Given the description of an element on the screen output the (x, y) to click on. 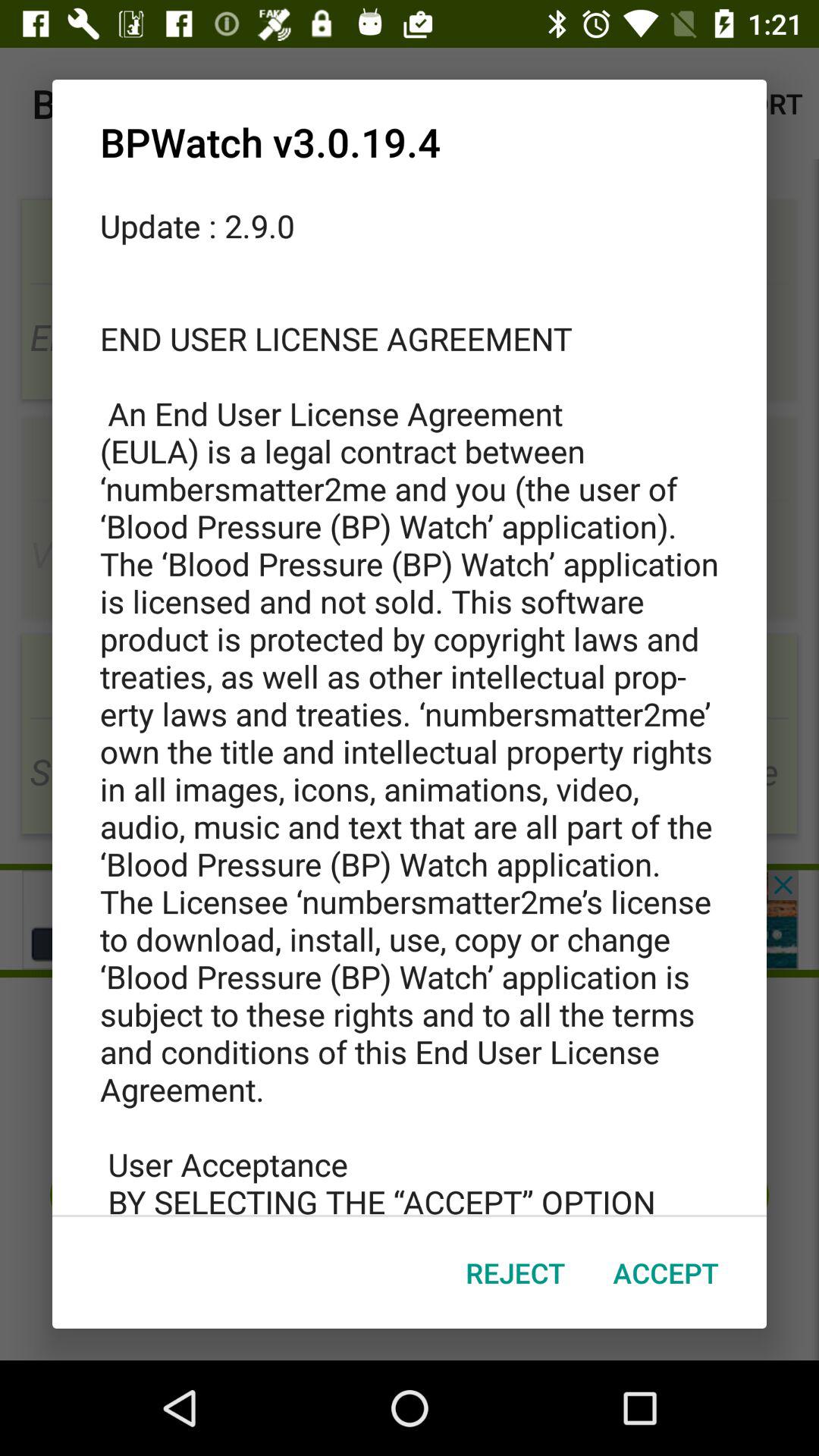
press icon at the bottom right corner (665, 1272)
